Given the description of an element on the screen output the (x, y) to click on. 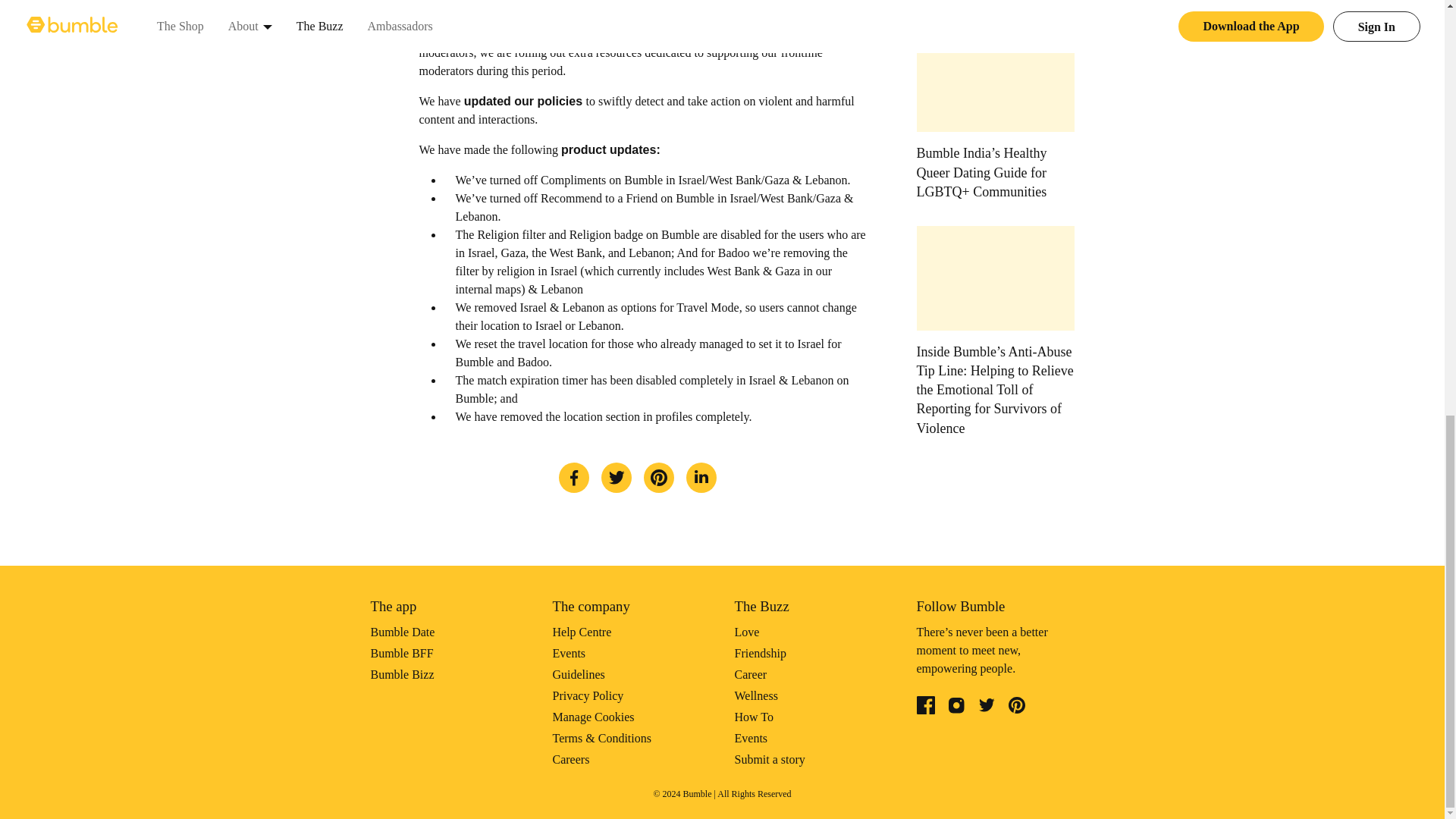
Career (750, 674)
Help Centre (581, 631)
Bumble Date (401, 631)
Bumble BFF (400, 653)
How To (753, 716)
Privacy Policy (587, 695)
Manage Cookies (592, 716)
Events (750, 738)
Friendship (759, 653)
Bumble Bizz (401, 674)
Careers (570, 758)
Events (568, 653)
Privacy Policy (587, 695)
The Buzz (761, 606)
Manage Cookies (592, 716)
